Given the description of an element on the screen output the (x, y) to click on. 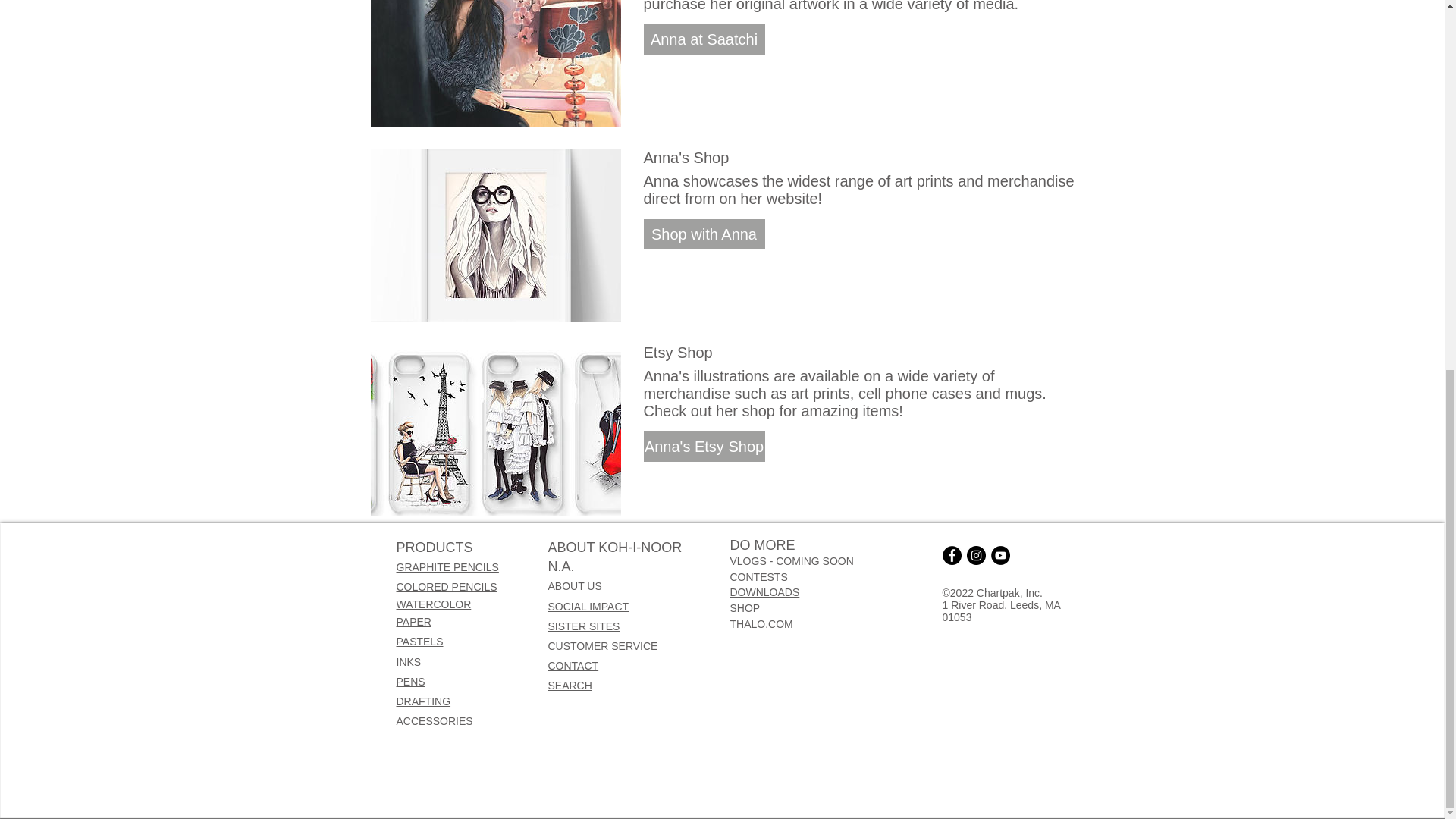
Anna Hammer's Etsy Shop (494, 429)
Anna Hammer on Shopify (494, 234)
Anna at Saatchi (703, 39)
